Given the description of an element on the screen output the (x, y) to click on. 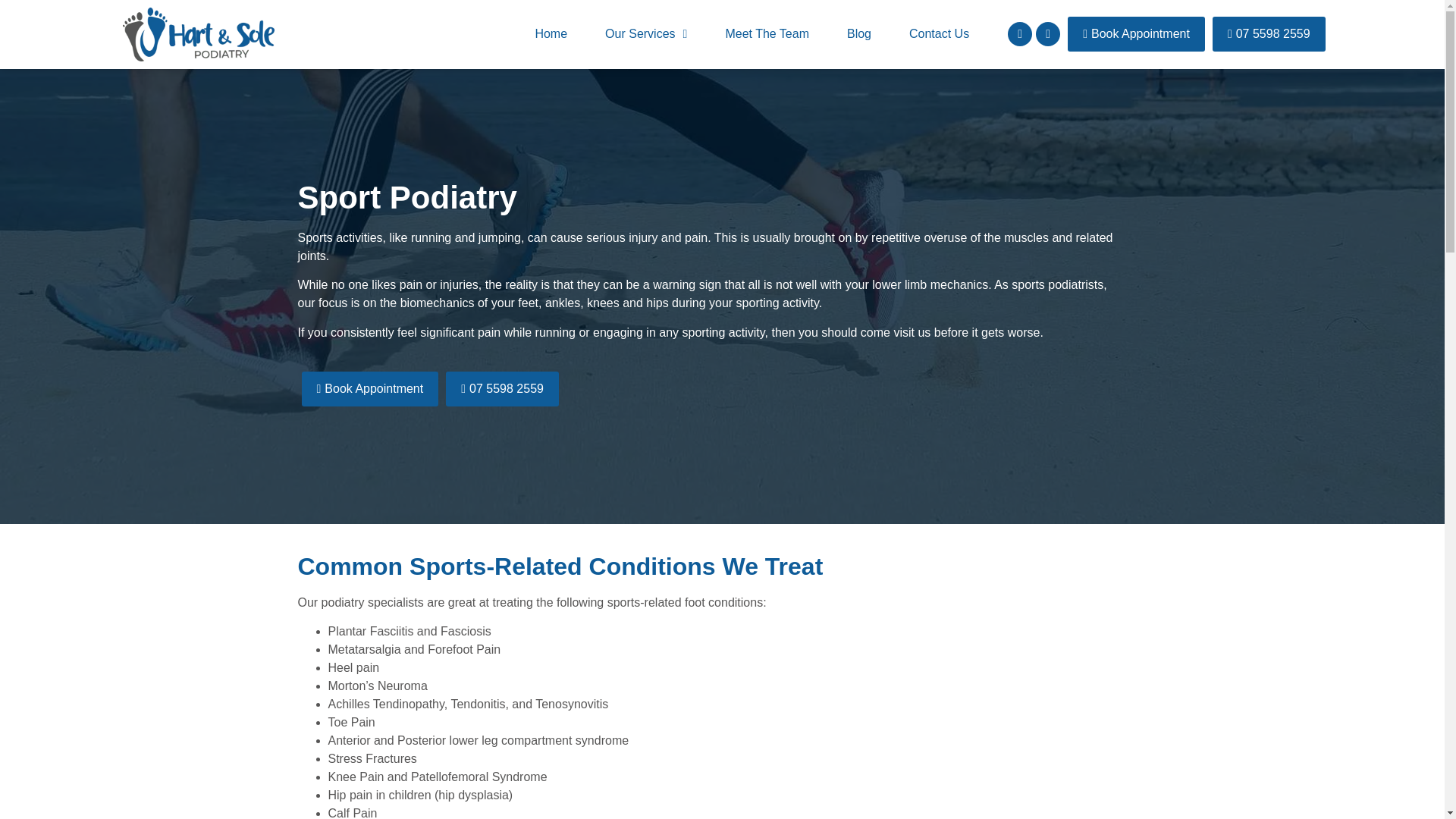
Contact Us (938, 33)
Blog (858, 33)
Home (550, 33)
07 5598 2559 (1268, 33)
Book Appointment (1136, 33)
Meet The Team (767, 33)
Our Services (646, 33)
